Given the description of an element on the screen output the (x, y) to click on. 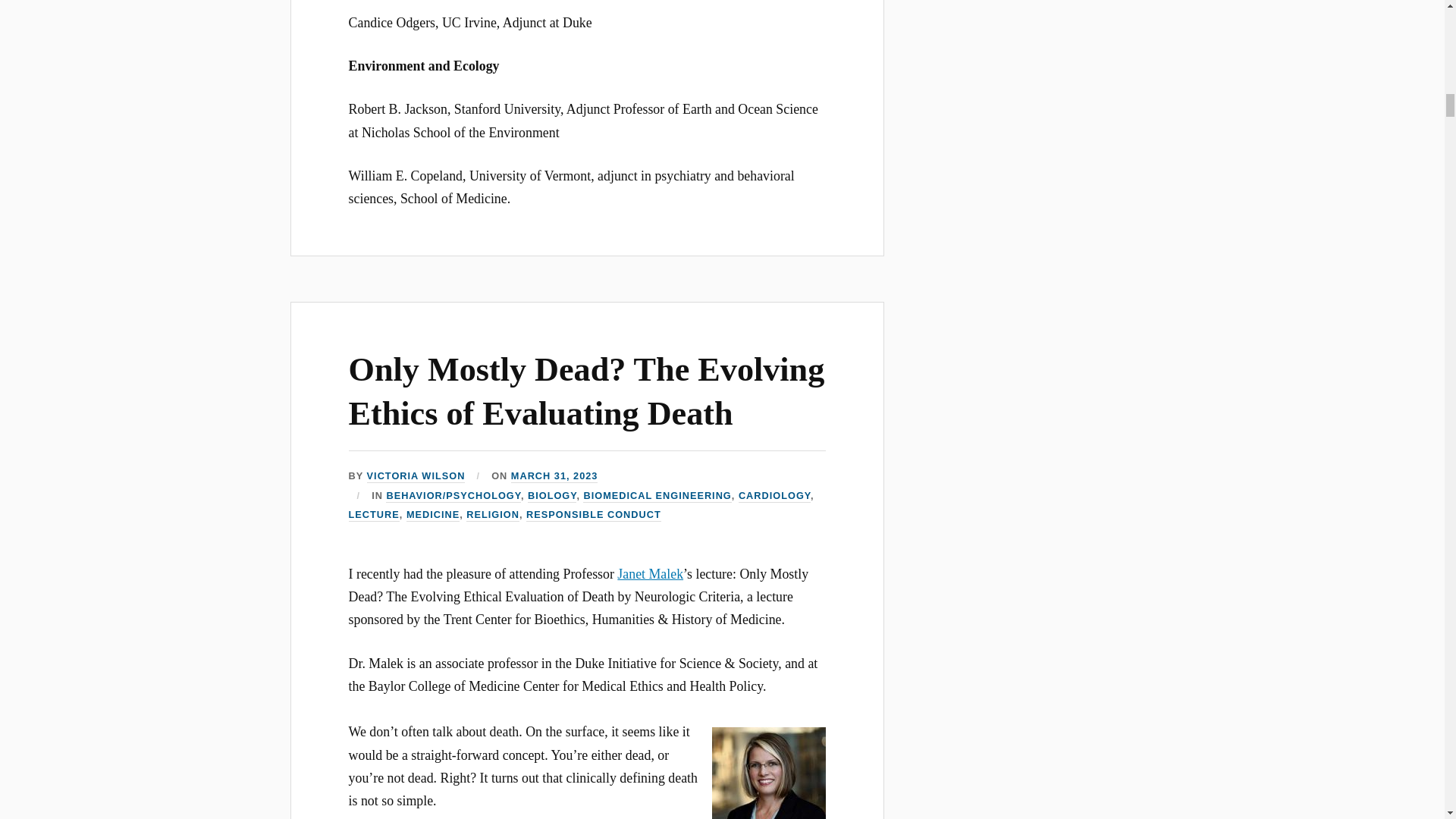
BIOMEDICAL ENGINEERING (656, 495)
BIOLOGY (551, 495)
MARCH 31, 2023 (554, 476)
MEDICINE (433, 514)
Janet Malek (649, 573)
CARDIOLOGY (774, 495)
LECTURE (373, 514)
Only Mostly Dead? The Evolving Ethics of Evaluating Death (587, 391)
Posts by Victoria Wilson (415, 476)
RELIGION (492, 514)
RESPONSIBLE CONDUCT (593, 514)
VICTORIA WILSON (415, 476)
